Given the description of an element on the screen output the (x, y) to click on. 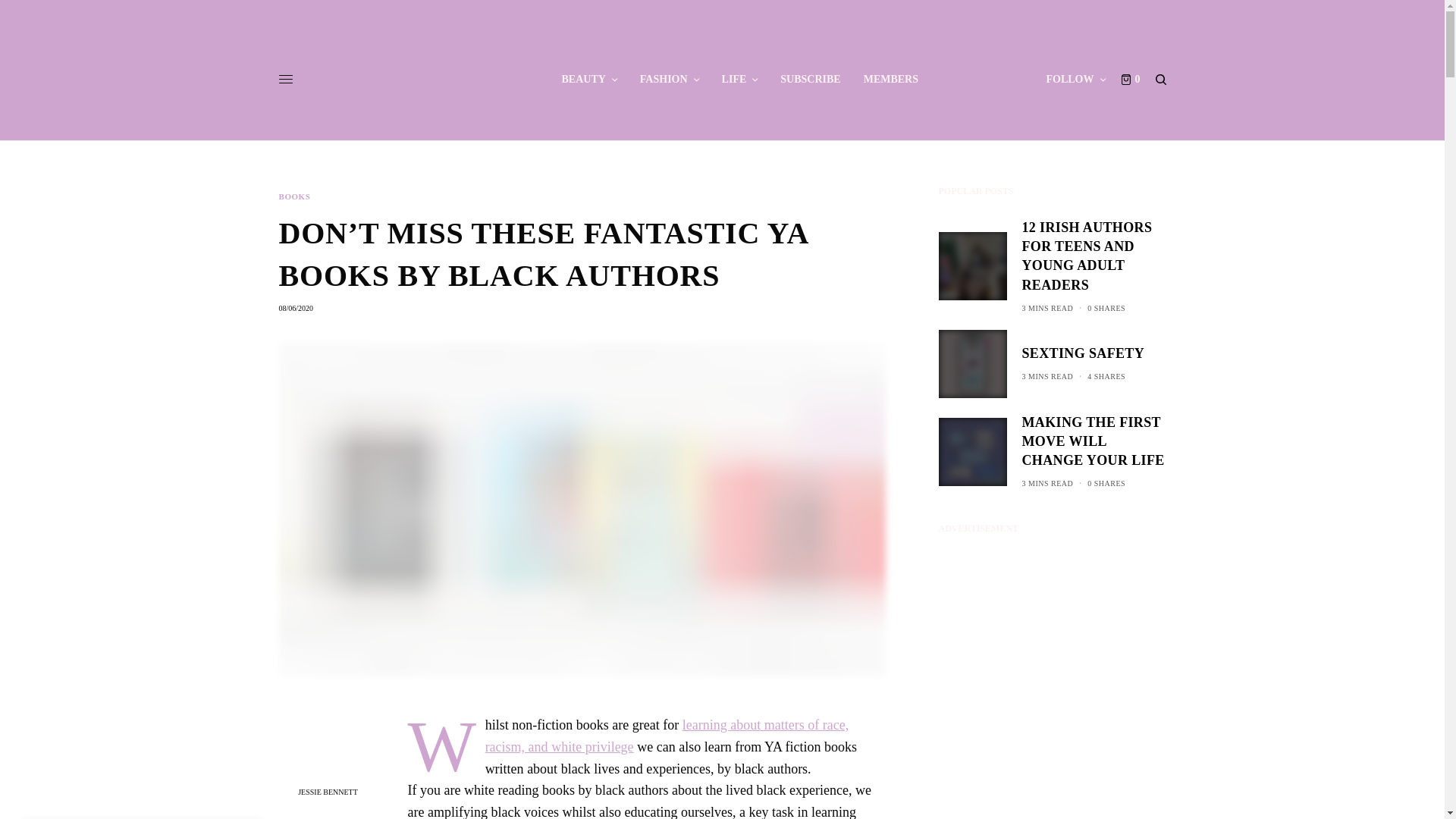
Missy.ie (421, 79)
